Given the description of an element on the screen output the (x, y) to click on. 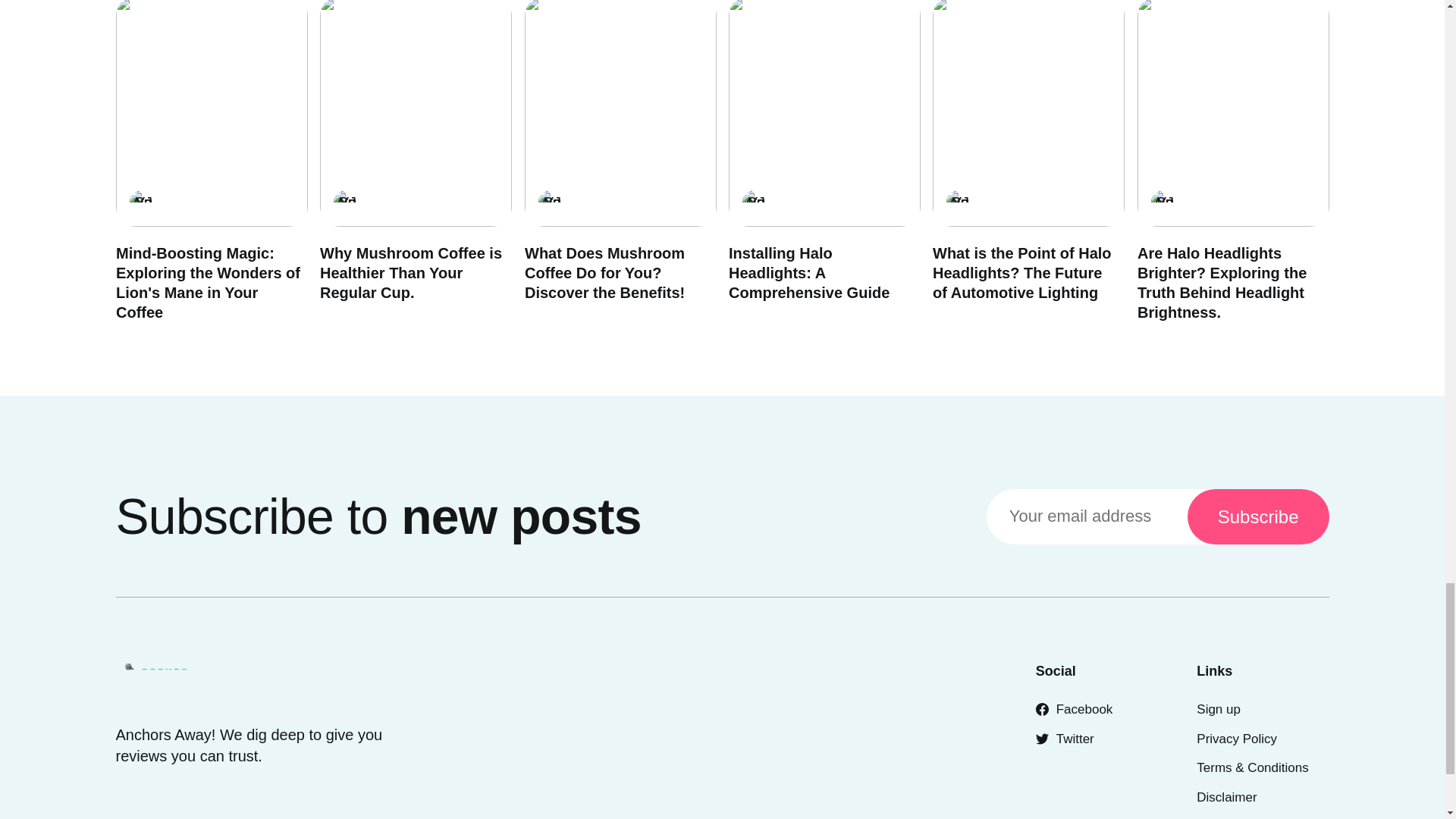
CJ Young (752, 201)
CJ Young (548, 201)
CJ Young (1161, 201)
Facebook (1074, 708)
Installing Halo Headlights: A Comprehensive Guide (808, 272)
CJ Young (957, 201)
Why Mushroom Coffee is Healthier Than Your Regular Cup. (411, 272)
What Does Mushroom Coffee Do for You? Discover the Benefits! (604, 272)
Sign up (1218, 708)
Subscribe (1258, 516)
Twitter (1064, 739)
CJ Young (344, 201)
